Given the description of an element on the screen output the (x, y) to click on. 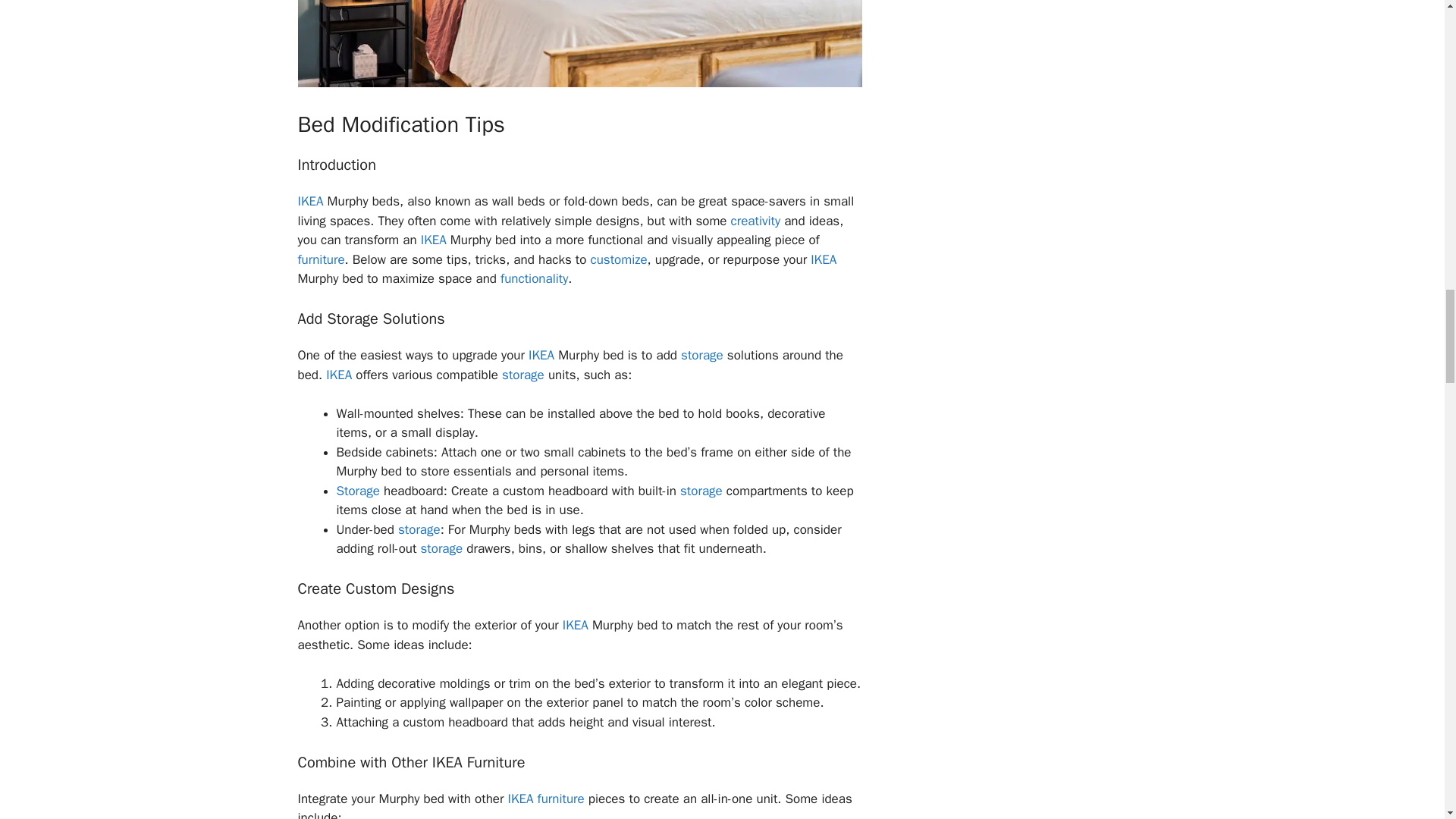
furniture (320, 259)
IKEA (433, 239)
IKEA (310, 201)
creativity (755, 220)
